Given the description of an element on the screen output the (x, y) to click on. 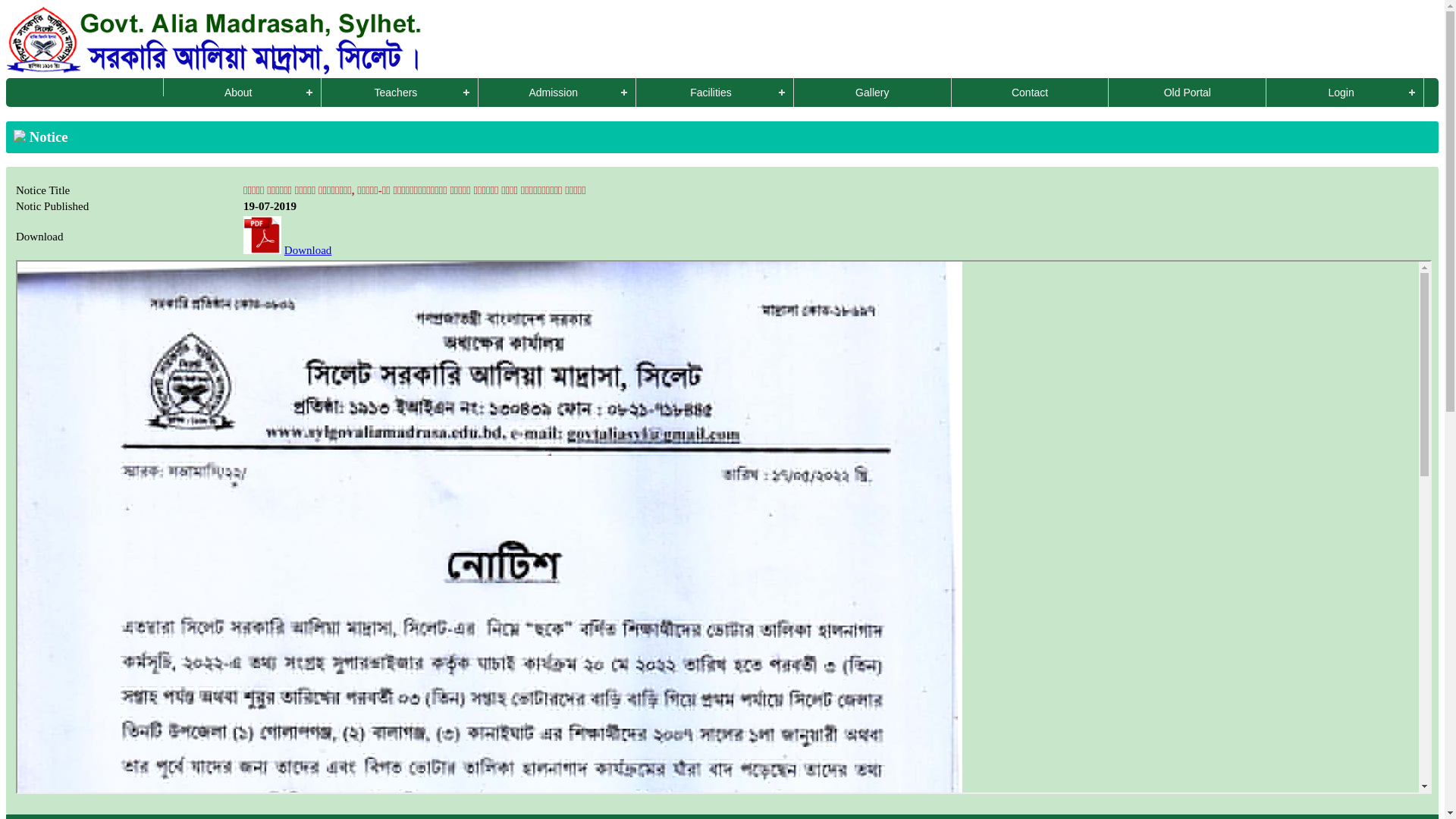
Teachers Element type: text (400, 92)
Admission Element type: text (557, 92)
Login Element type: text (1345, 92)
Facilities Element type: text (714, 92)
Old Portal Element type: text (1187, 92)
Contact Element type: text (1030, 92)
About Element type: text (242, 92)
Download Element type: text (308, 250)
Gallery Element type: text (872, 92)
